Given the description of an element on the screen output the (x, y) to click on. 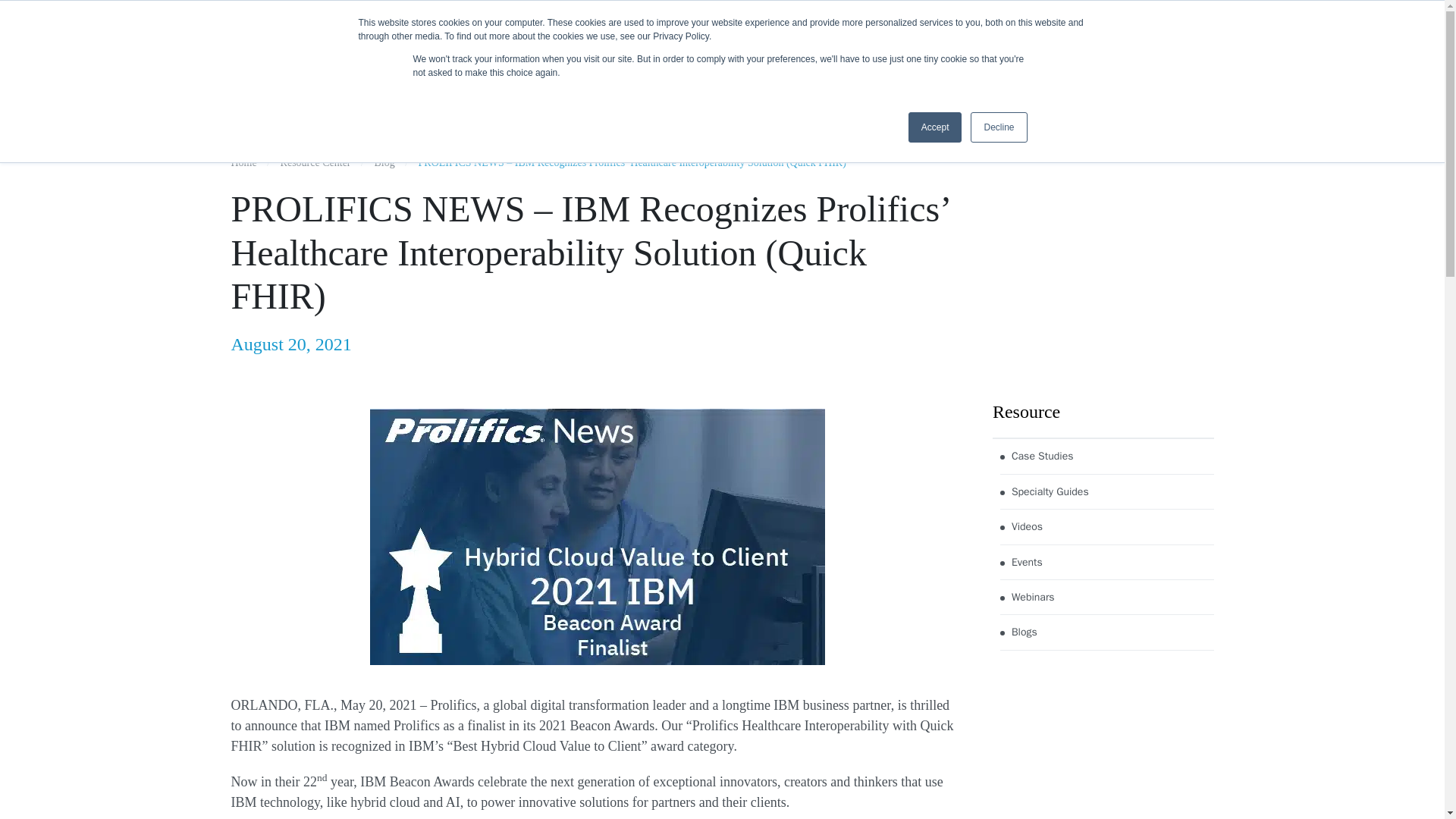
Resource Center (769, 40)
Decline (998, 127)
Accept (935, 127)
